Given the description of an element on the screen output the (x, y) to click on. 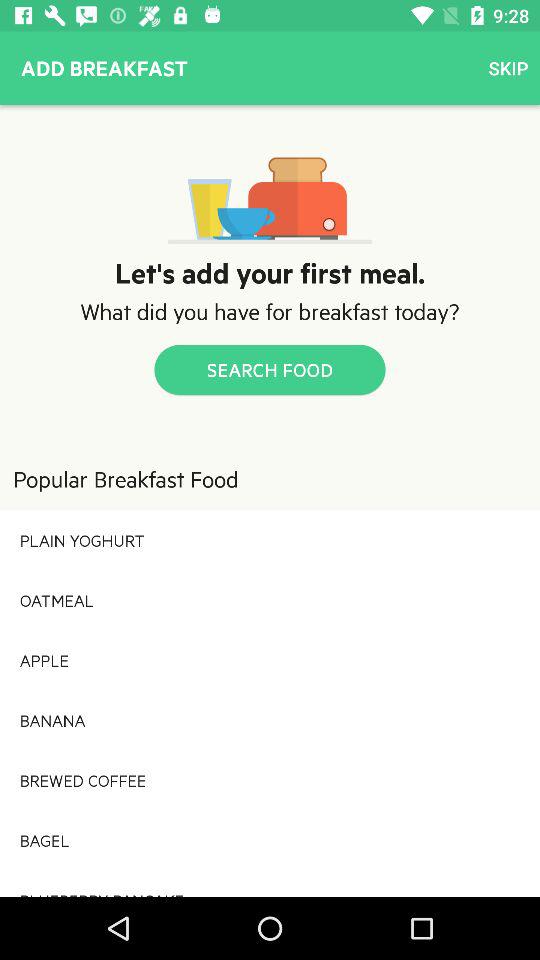
turn off plain yoghurt icon (270, 540)
